Given the description of an element on the screen output the (x, y) to click on. 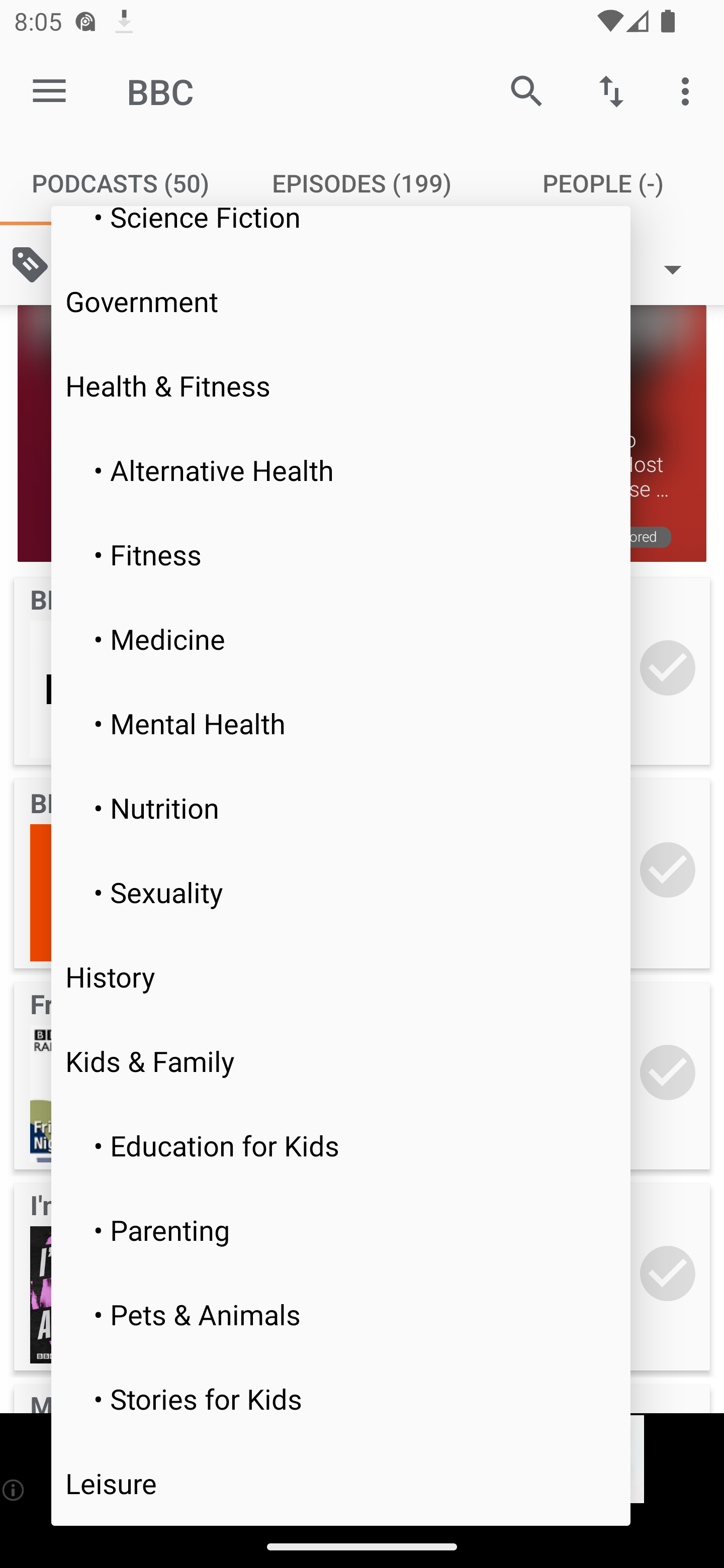
    • Science Fiction (340, 231)
Government (340, 300)
Health & Fitness (340, 385)
    • Alternative Health (340, 470)
    • Fitness (340, 553)
    • Medicine (340, 637)
    • Mental Health (340, 722)
    • Nutrition (340, 807)
    • Sexuality (340, 891)
History (340, 976)
Kids & Family (340, 1061)
    • Education for Kids (340, 1144)
    • Parenting (340, 1228)
    • Pets & Animals (340, 1313)
    • Stories for Kids (340, 1398)
Leisure (340, 1482)
